Given the description of an element on the screen output the (x, y) to click on. 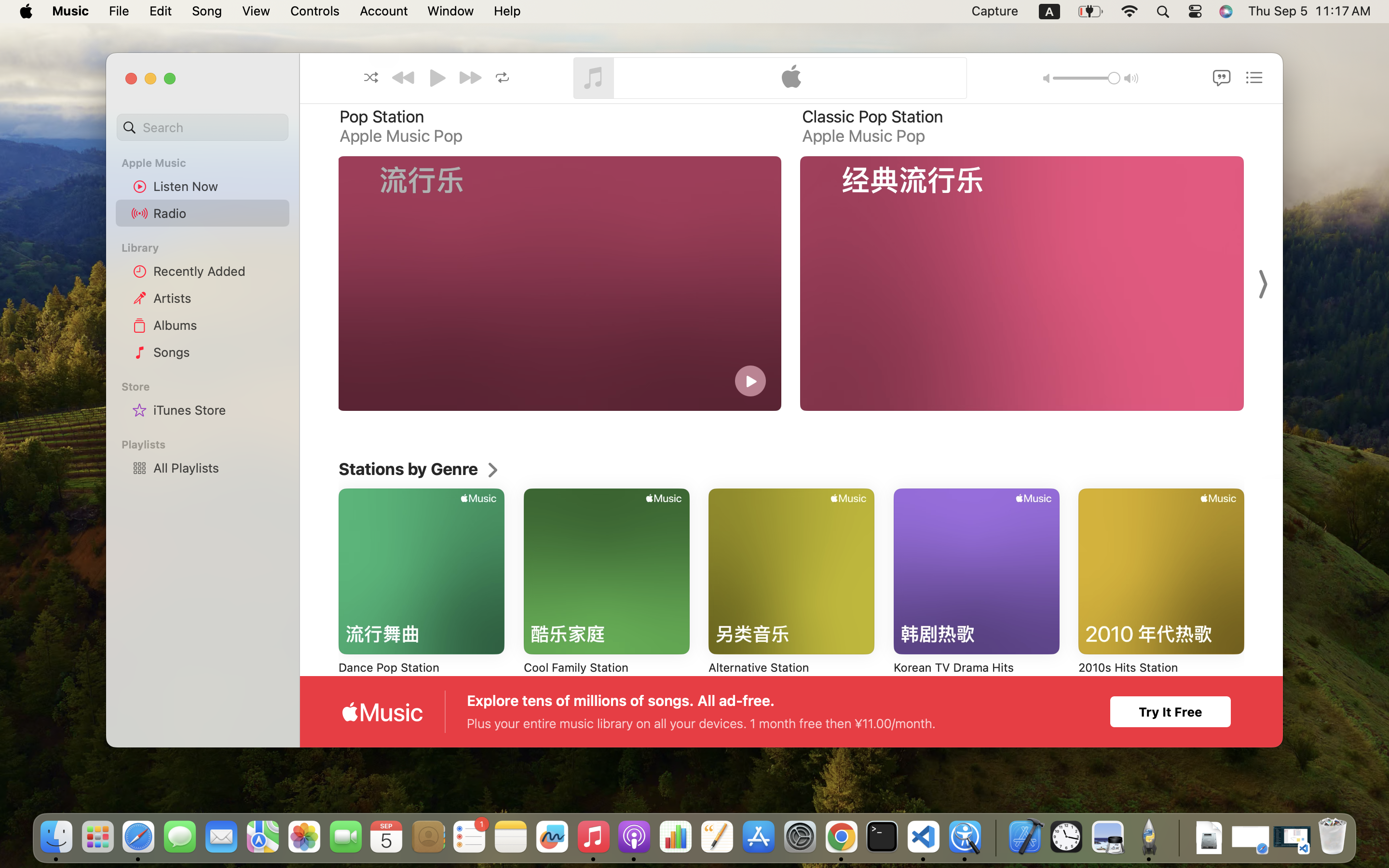
Library Element type: AXStaticText (201, 247)
Apple Music Element type: AXStaticText (208, 162)
Apple Music Pop Element type: AXStaticText (862, 135)
Plus your entire music library on all your devices. 1 month free then ¥11.00/month. Element type: AXStaticText (701, 723)
